Given the description of an element on the screen output the (x, y) to click on. 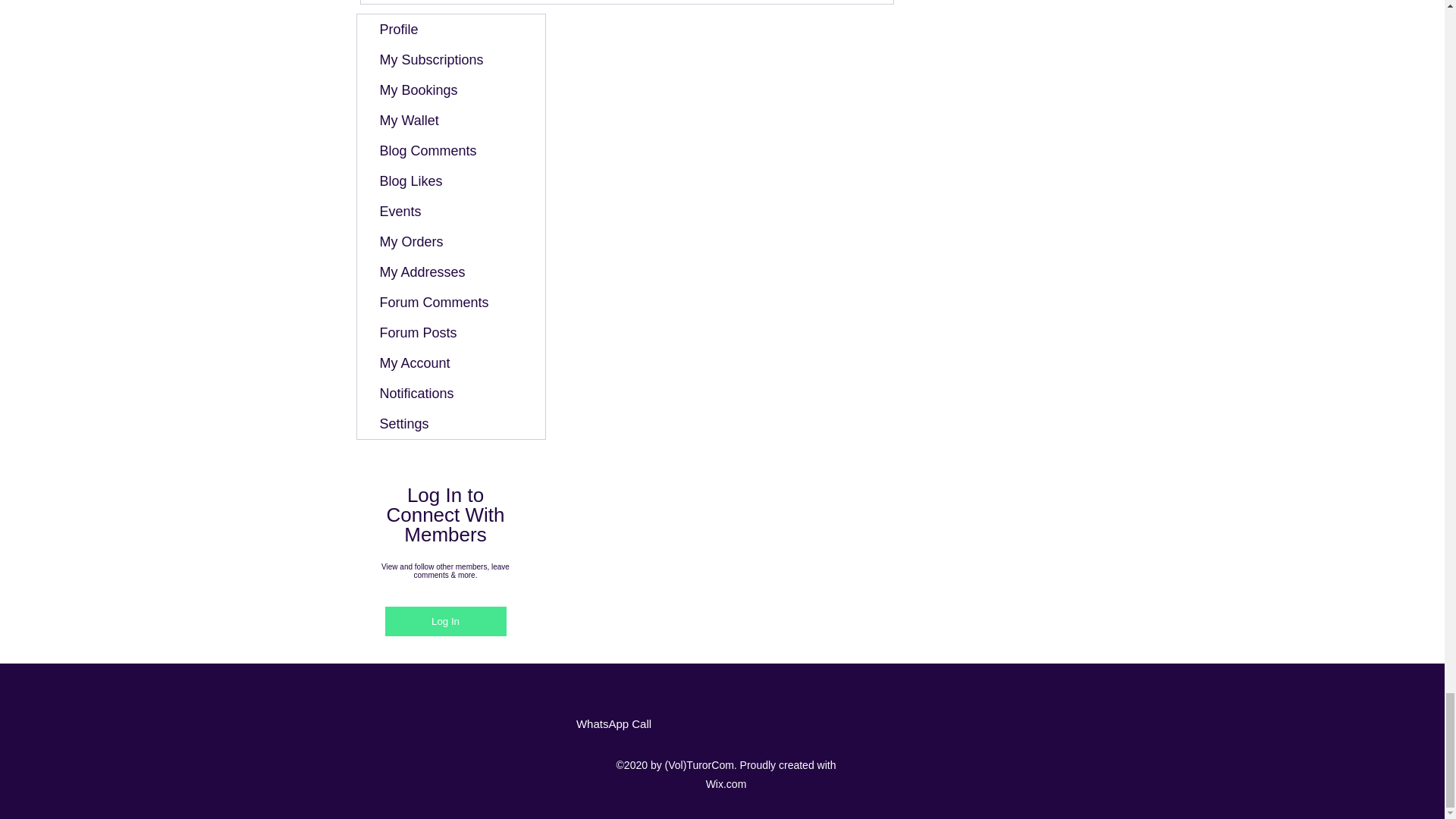
My Wallet (450, 120)
My Bookings (450, 90)
Blog Comments (450, 150)
My Subscriptions (450, 60)
Blog Likes (450, 181)
Profile (450, 29)
